Given the description of an element on the screen output the (x, y) to click on. 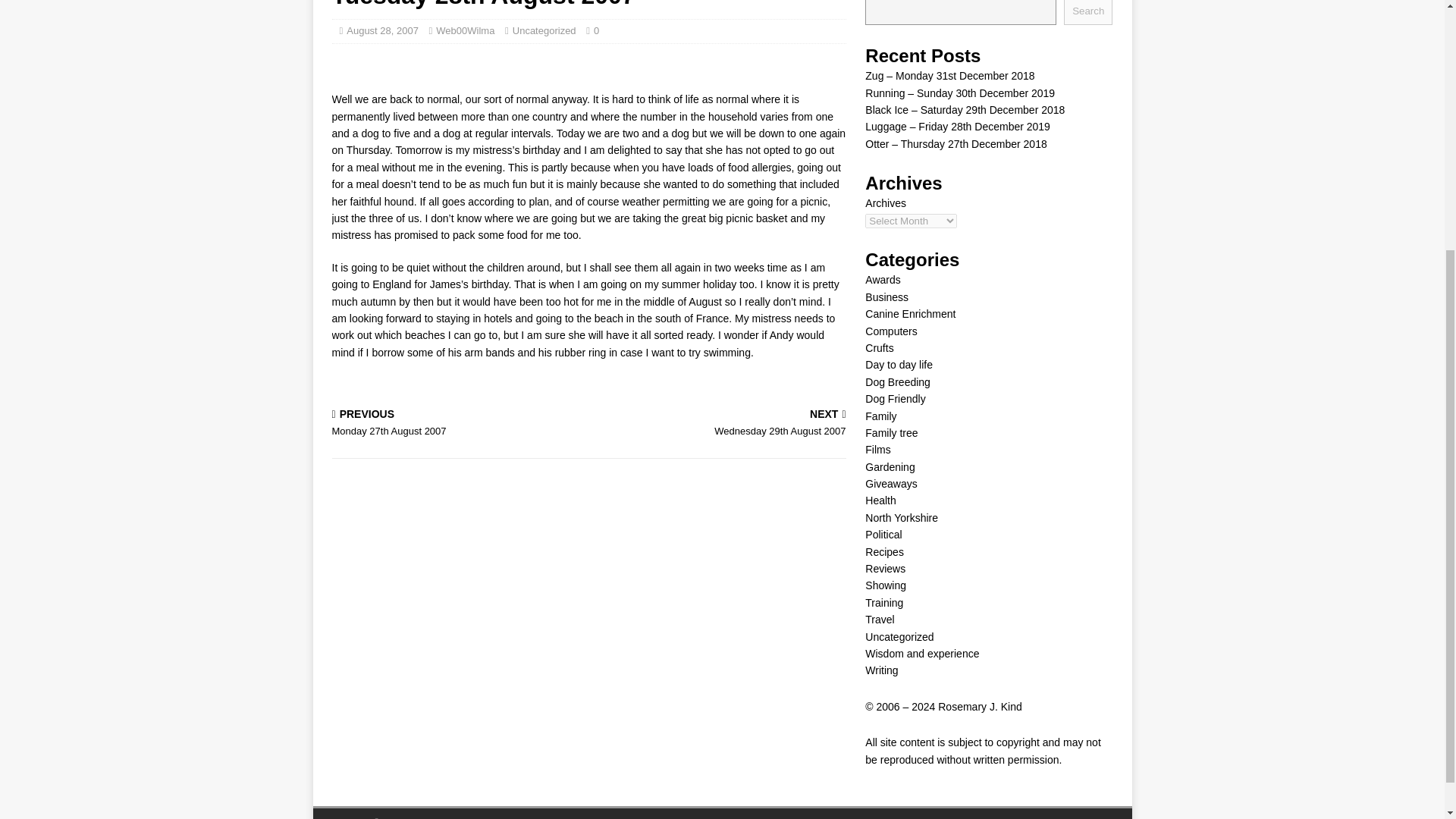
Gardening (889, 467)
Political (882, 534)
Awards (881, 279)
Recipes (884, 551)
Business (886, 297)
Giveaways (890, 483)
Web00Wilma (465, 30)
Computers (890, 331)
Uncategorized (544, 30)
Day to day life (898, 364)
